Given the description of an element on the screen output the (x, y) to click on. 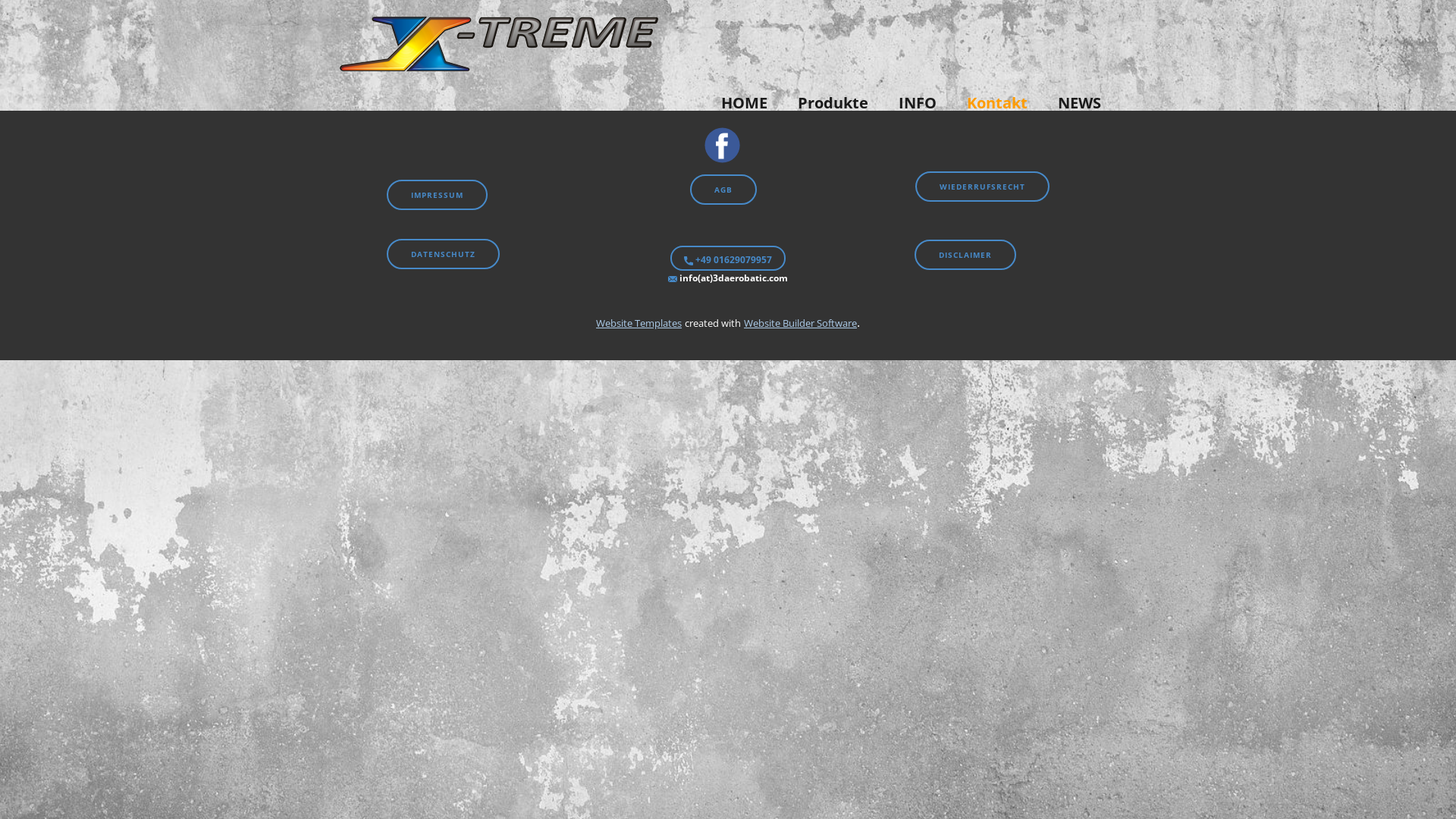
Kontakt Element type: text (996, 102)
DATENSCHUTZ Element type: text (442, 253)
Produkte Element type: text (832, 102)
 info(at)3daerobatic.com Element type: text (727, 277)
 +49 01629079957 Element type: text (727, 257)
INFO Element type: text (917, 102)
NEWS Element type: text (1079, 102)
DISCLAIMER Element type: text (965, 254)
Website Templates Element type: text (638, 322)
WIEDERRUFSRECHT Element type: text (982, 186)
Website Builder Software Element type: text (799, 322)
XTREME-RC Facebook Element type: hover (722, 145)
IMPRESSUM Element type: text (436, 194)
AGB Element type: text (723, 189)
HOME Element type: text (744, 102)
